Given the description of an element on the screen output the (x, y) to click on. 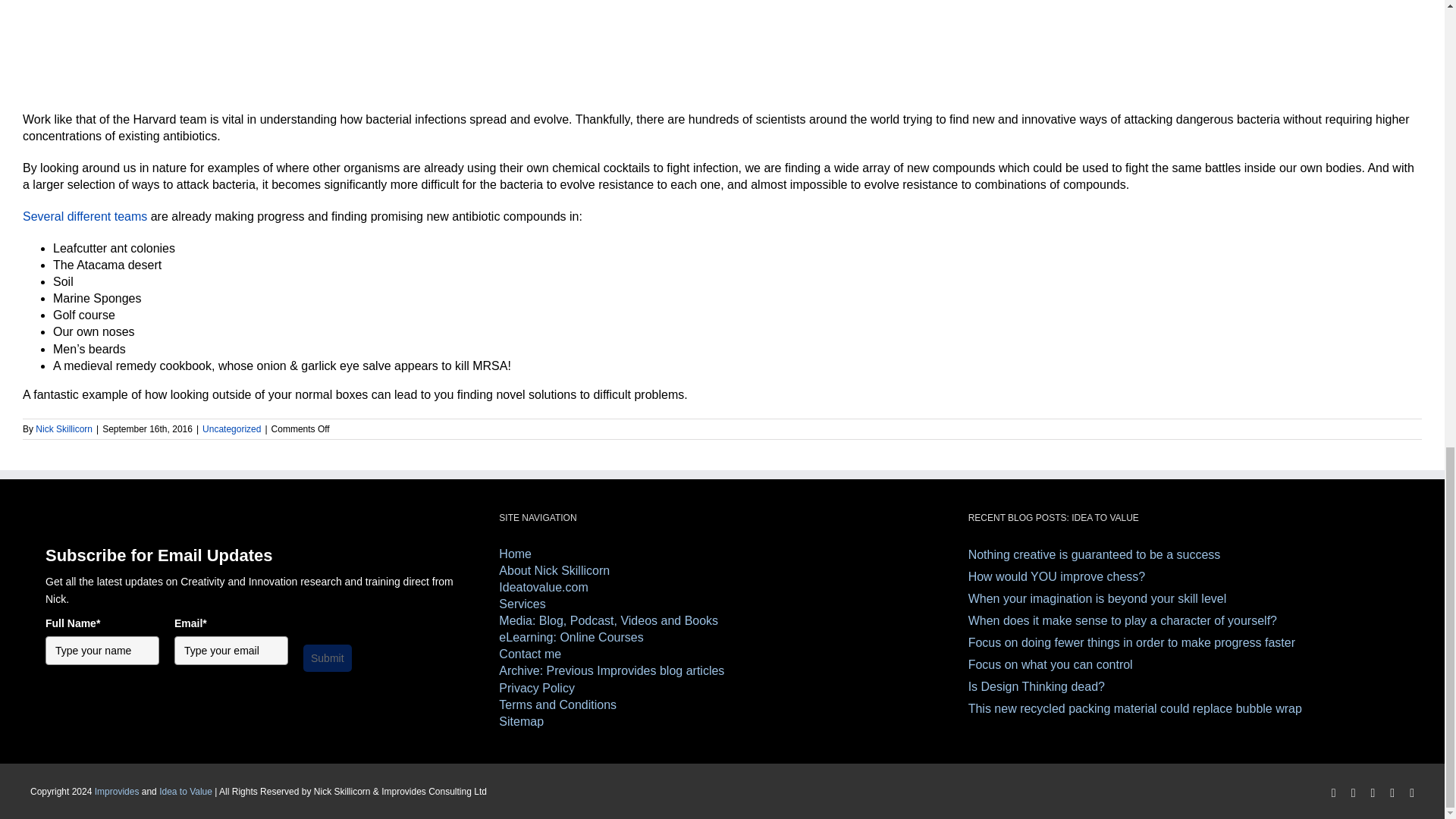
Terms and Conditions (721, 704)
eLearning (721, 637)
Idea to value (721, 587)
Archive: Previous Improvides blog articles (721, 670)
Uncategorized (231, 429)
Home (721, 554)
Sitemap (721, 721)
Services (721, 604)
Several (43, 215)
Media: Blog, Podcast, Videos and Books (721, 620)
Posts by Nick Skillicorn (63, 429)
Contact me (721, 654)
About Nick Skillicorn (721, 570)
Services (721, 604)
Privacy Policy (721, 688)
